Given the description of an element on the screen output the (x, y) to click on. 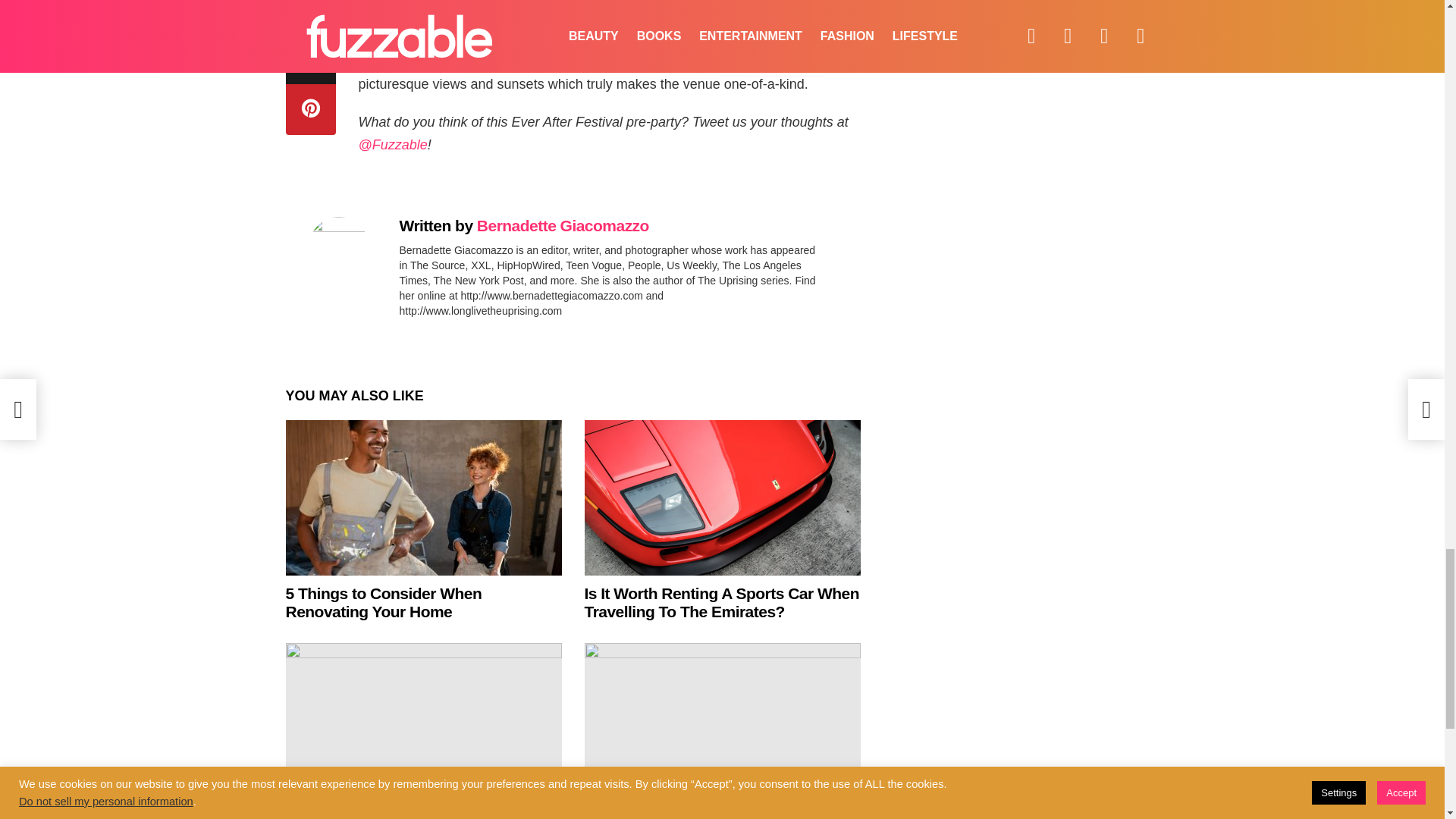
Bernadette Giacomazzo (563, 225)
Car Care: Tips On How To Keep Your Car Looking Its Best (715, 813)
Why even on vacation, giving flowers to your beloved matters (422, 720)
5 Things to Consider When Renovating Your Home (422, 497)
Car Care: Tips On How To Keep Your Car Looking Its Best (721, 720)
5 Things to Consider When Renovating Your Home (383, 601)
Why even on vacation, giving flowers to your beloved matters (419, 813)
